Given the description of an element on the screen output the (x, y) to click on. 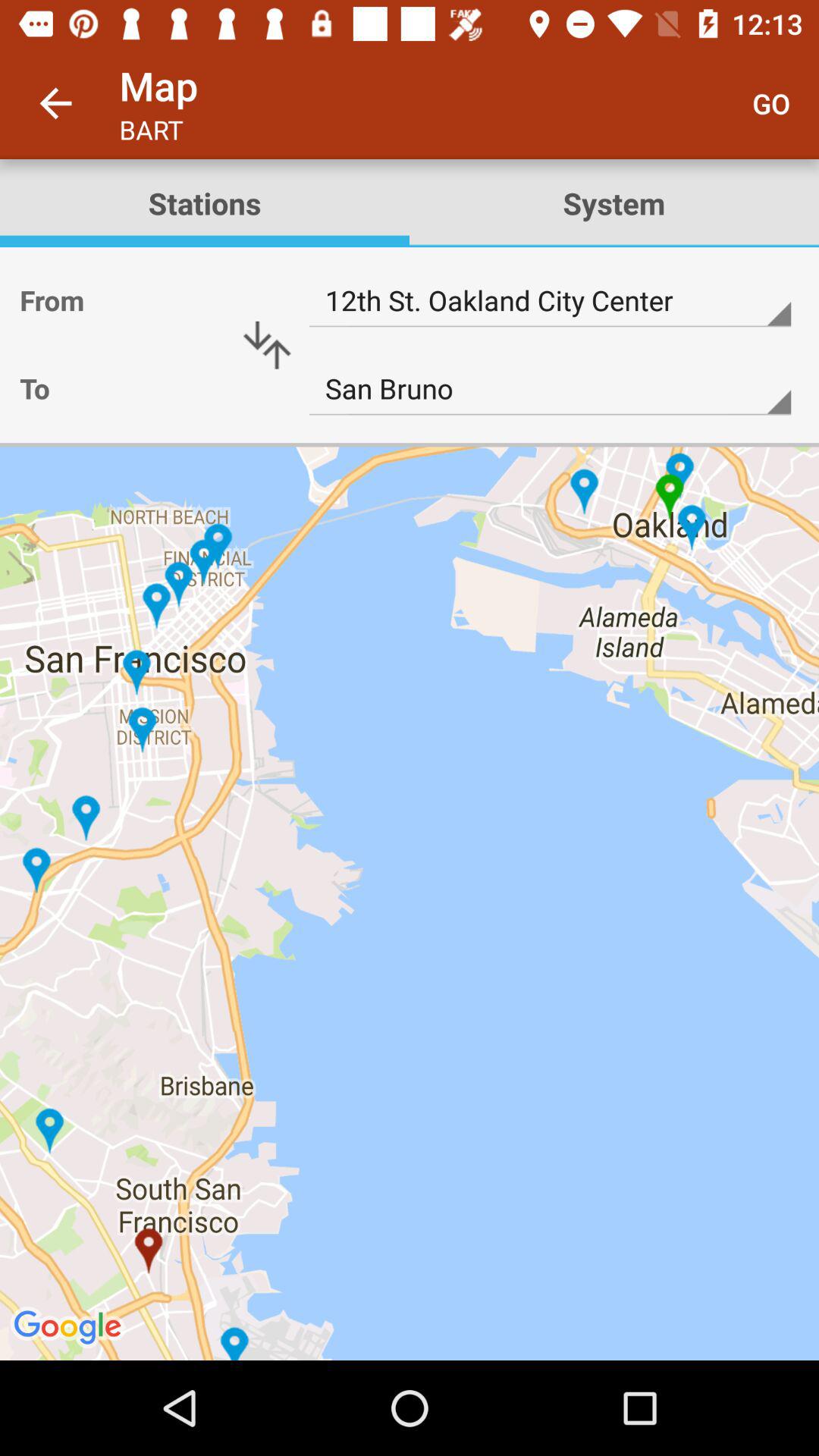
launch the item above 12th st oakland (204, 203)
